Given the description of an element on the screen output the (x, y) to click on. 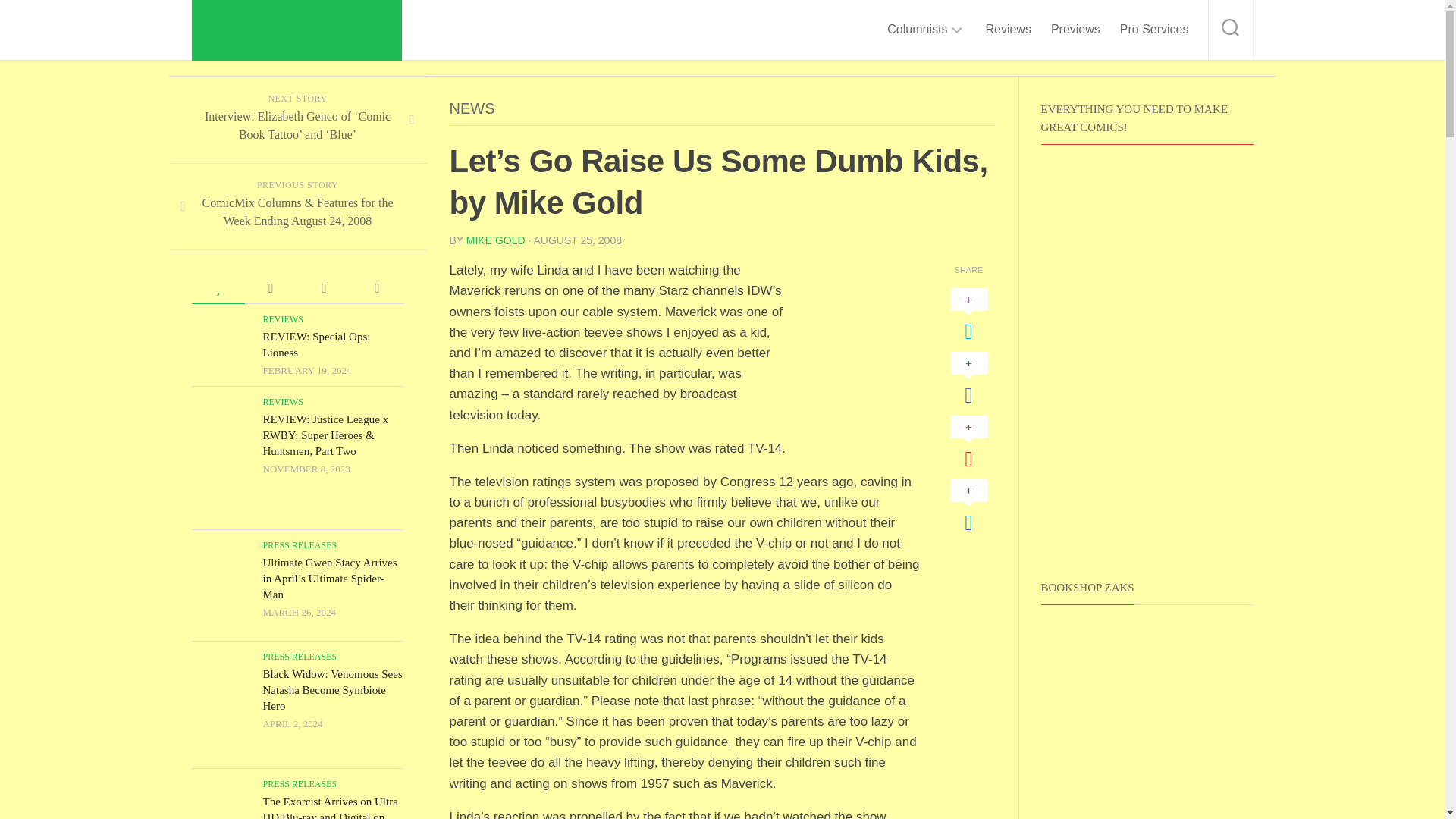
Reviews (1007, 29)
Popular Posts (217, 287)
Share on Pinterest (968, 443)
Tags (376, 287)
Posts by Mike Gold (495, 240)
Previews (1075, 29)
Share on LinkedIn (968, 507)
Columnists (916, 29)
Recent Comments (270, 287)
MIKE GOLD (495, 240)
Pro Services (1154, 29)
Share on X (968, 315)
Recent Posts (323, 287)
Share on Facebook (968, 379)
NEWS (471, 108)
